Given the description of an element on the screen output the (x, y) to click on. 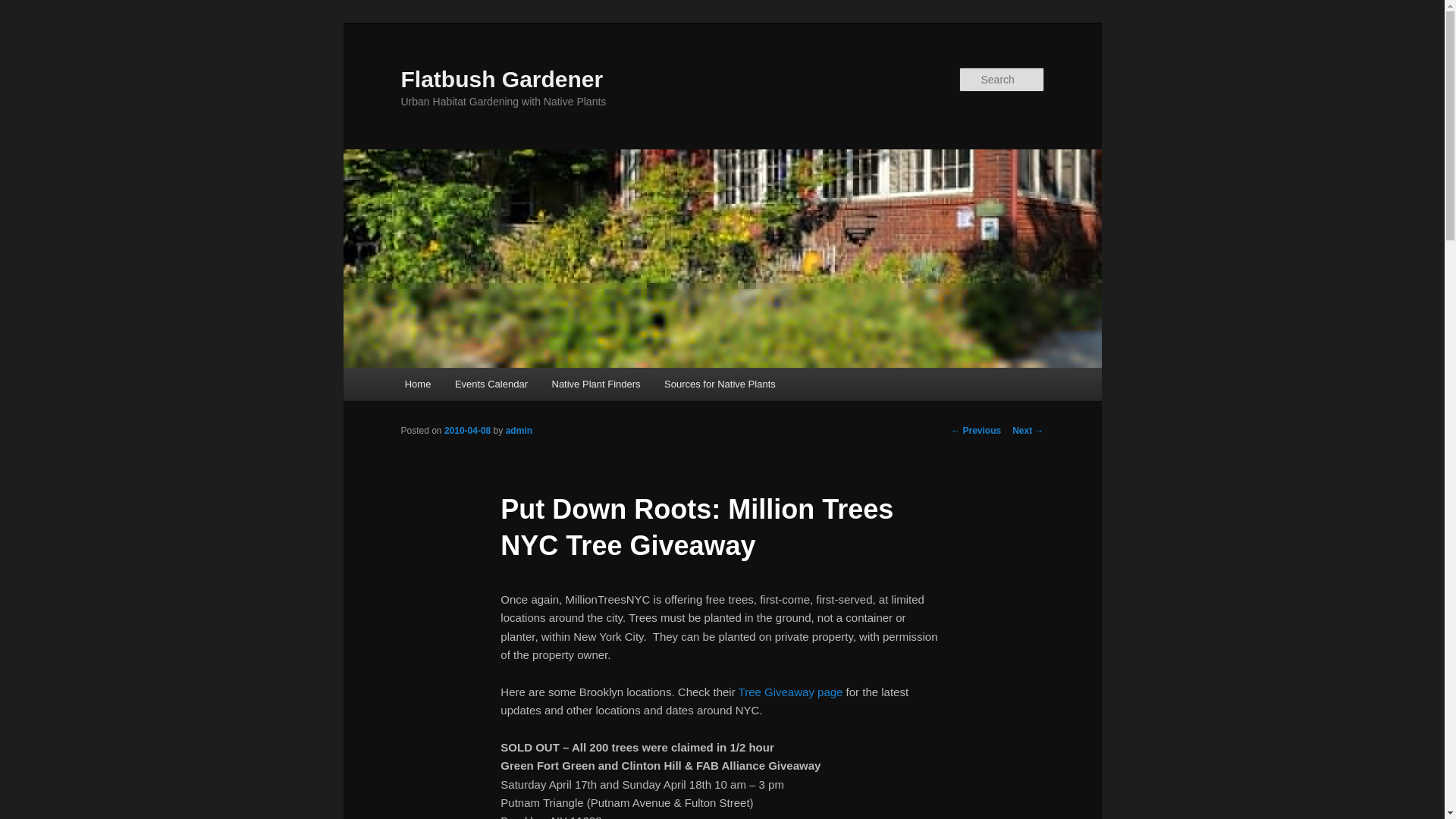
View all posts by admin (518, 430)
2010-04-08 (467, 430)
Native Plant Finders (596, 383)
admin (518, 430)
Sources for Native Plants (719, 383)
Events Calendar (491, 383)
Tree Giveaway page (790, 691)
Home (417, 383)
11:18 (467, 430)
